Given the description of an element on the screen output the (x, y) to click on. 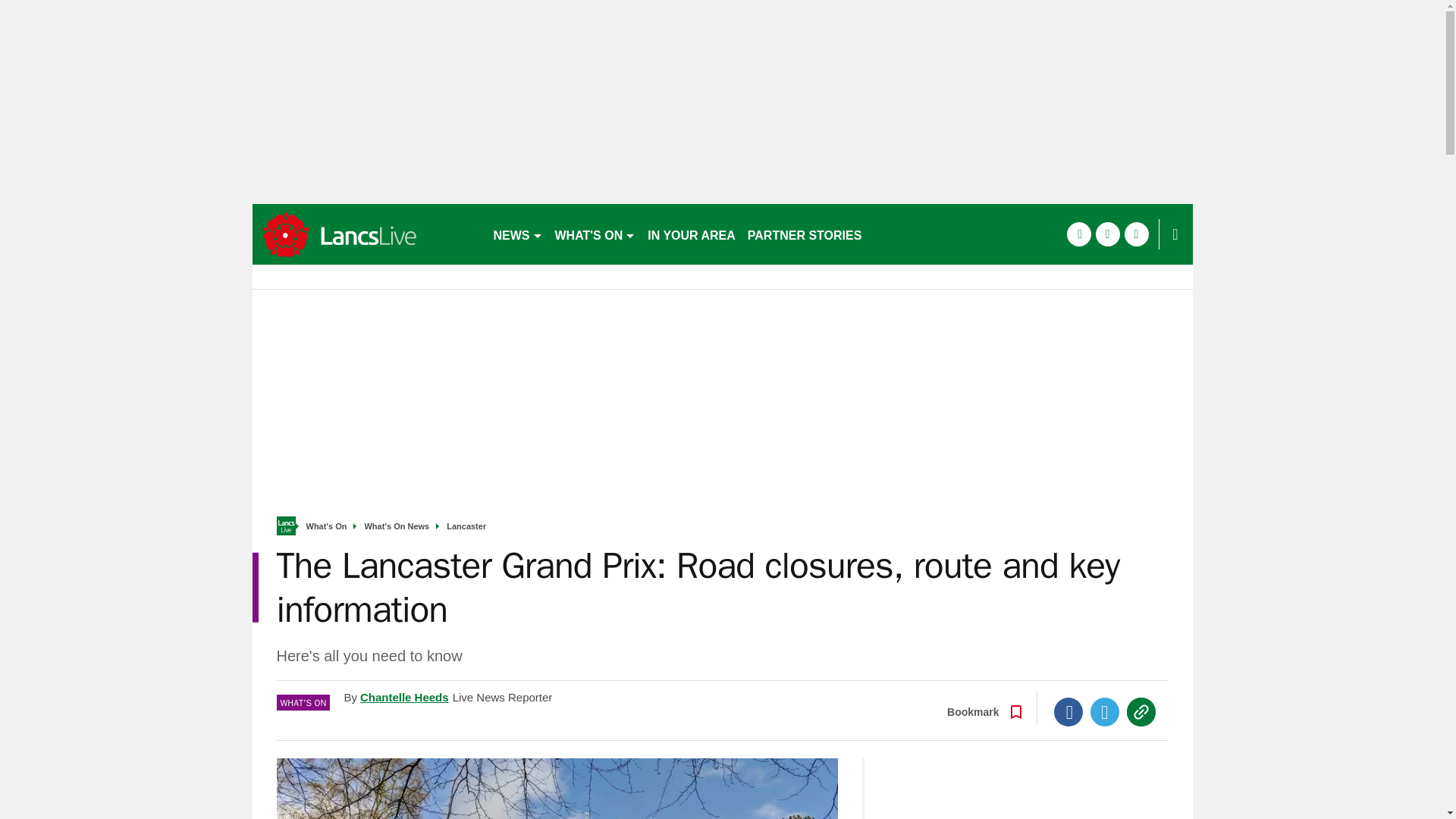
instagram (1136, 233)
WHAT'S ON (595, 233)
accrington (365, 233)
NEWS (517, 233)
IN YOUR AREA (691, 233)
twitter (1106, 233)
Twitter (1104, 711)
facebook (1077, 233)
Facebook (1068, 711)
PARTNER STORIES (804, 233)
